Given the description of an element on the screen output the (x, y) to click on. 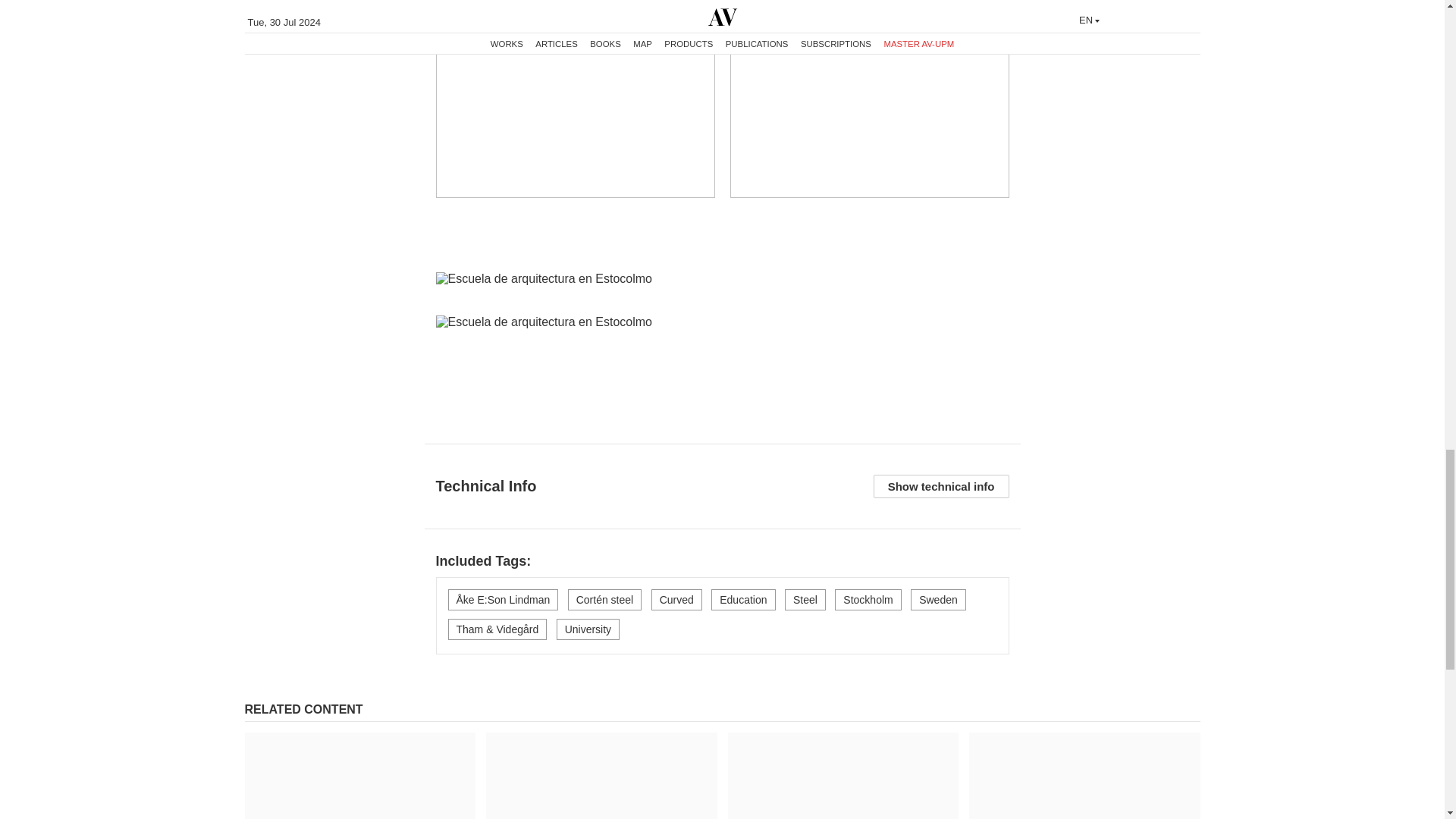
Escuela de arquitectura en Estocolmo (574, 99)
Escuela de arquitectura en Estocolmo (869, 99)
